Given the description of an element on the screen output the (x, y) to click on. 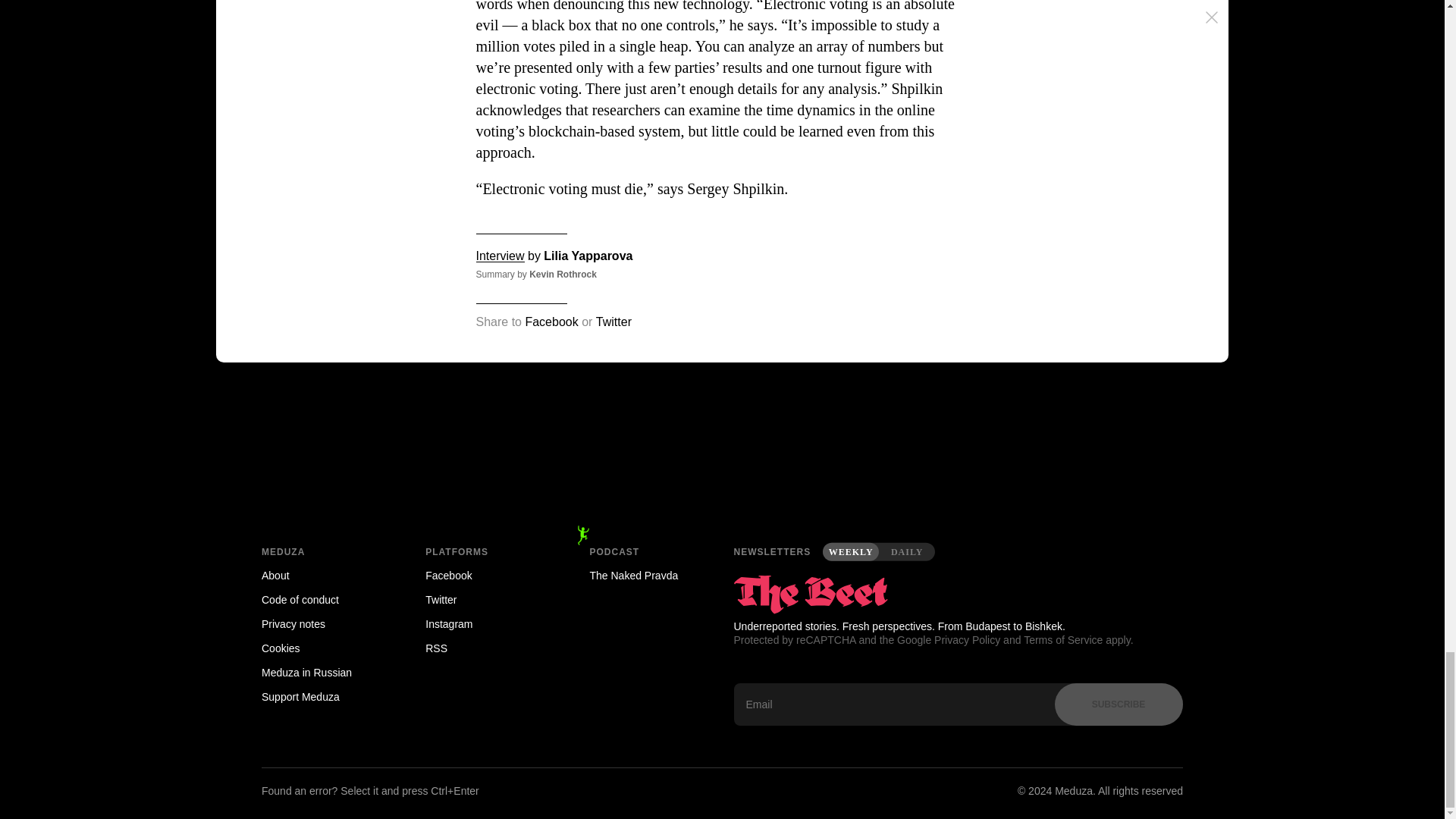
Facebook (551, 322)
RSS (486, 648)
Code of conduct (322, 599)
Facebook (486, 575)
Cookies (322, 648)
Interview (500, 255)
Meduza in Russian (322, 672)
Terms of Service (1062, 639)
Instagram (486, 623)
SUBSCRIBE (1118, 704)
Privacy Policy (967, 639)
Privacy notes (322, 623)
Twitter (613, 322)
About (322, 575)
Support Meduza (322, 696)
